Given the description of an element on the screen output the (x, y) to click on. 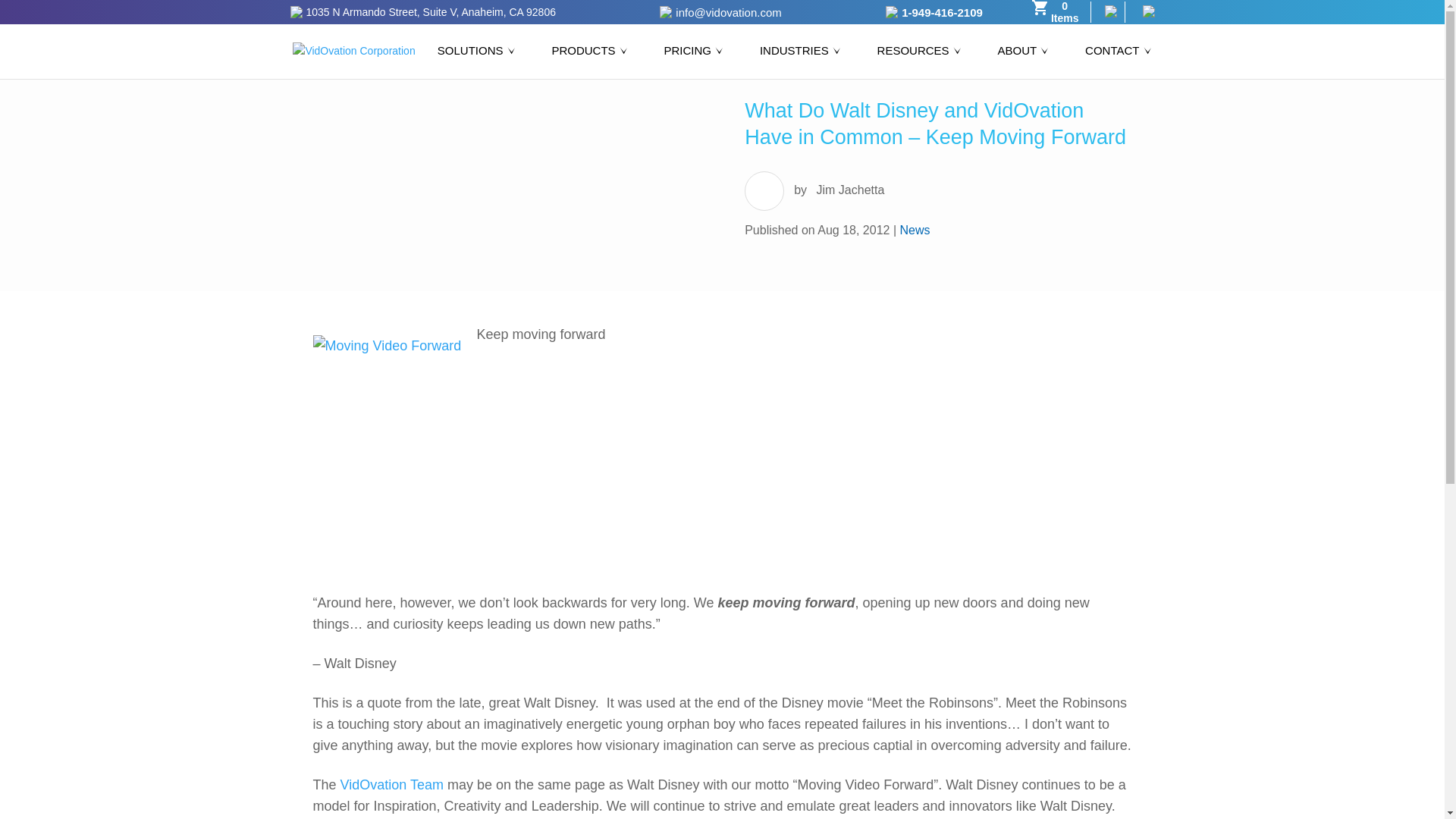
0 Items (1055, 12)
Posts by Jim Jachetta (850, 189)
1-949-416-2109 (941, 11)
Walt Disney (388, 448)
VidOvation Moving Video Forward (392, 784)
SOLUTIONS (478, 61)
